Given the description of an element on the screen output the (x, y) to click on. 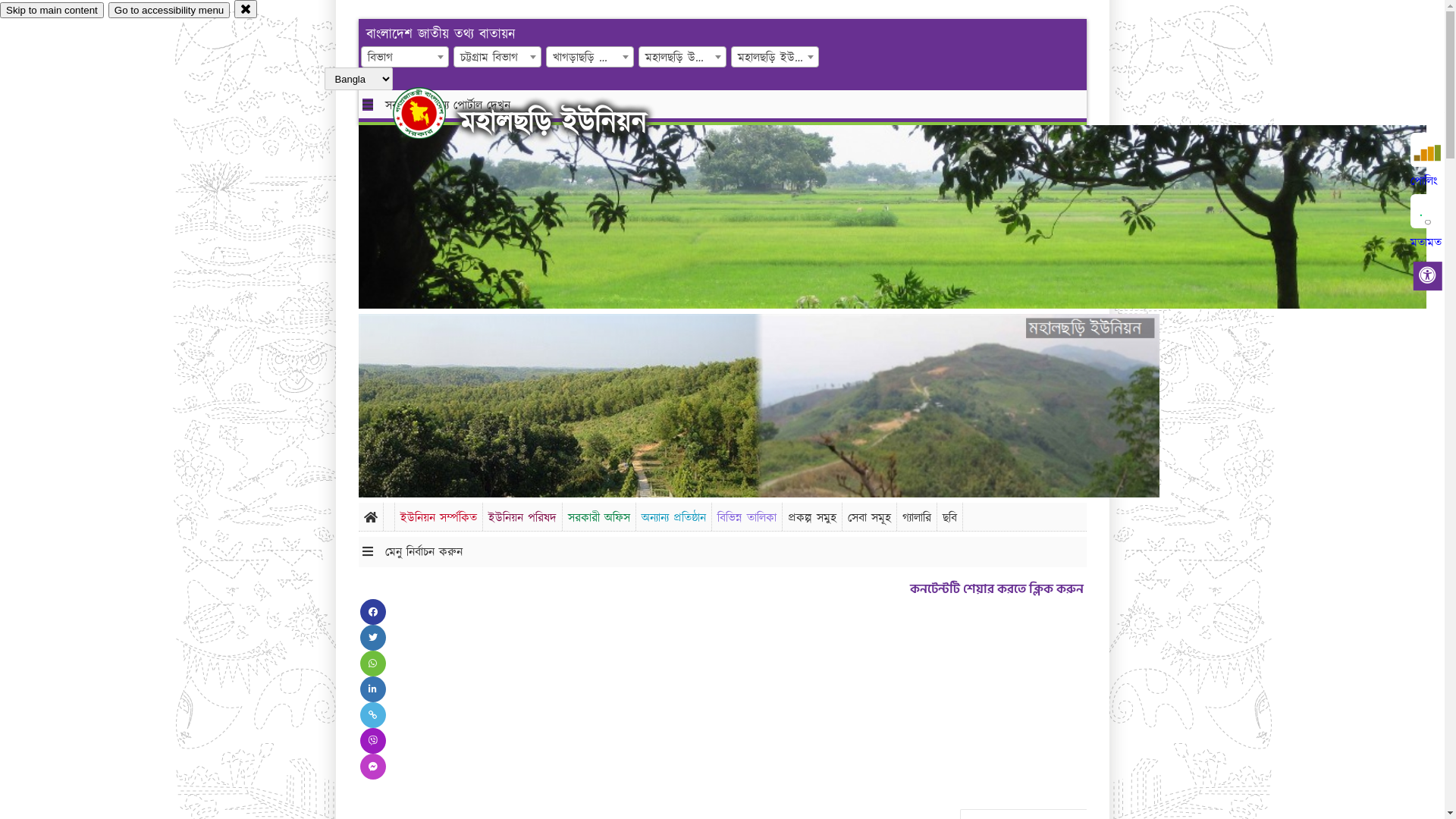
Go to accessibility menu Element type: text (168, 10)
close Element type: hover (245, 9)
Skip to main content Element type: text (51, 10)

                
             Element type: hover (431, 112)
